Given the description of an element on the screen output the (x, y) to click on. 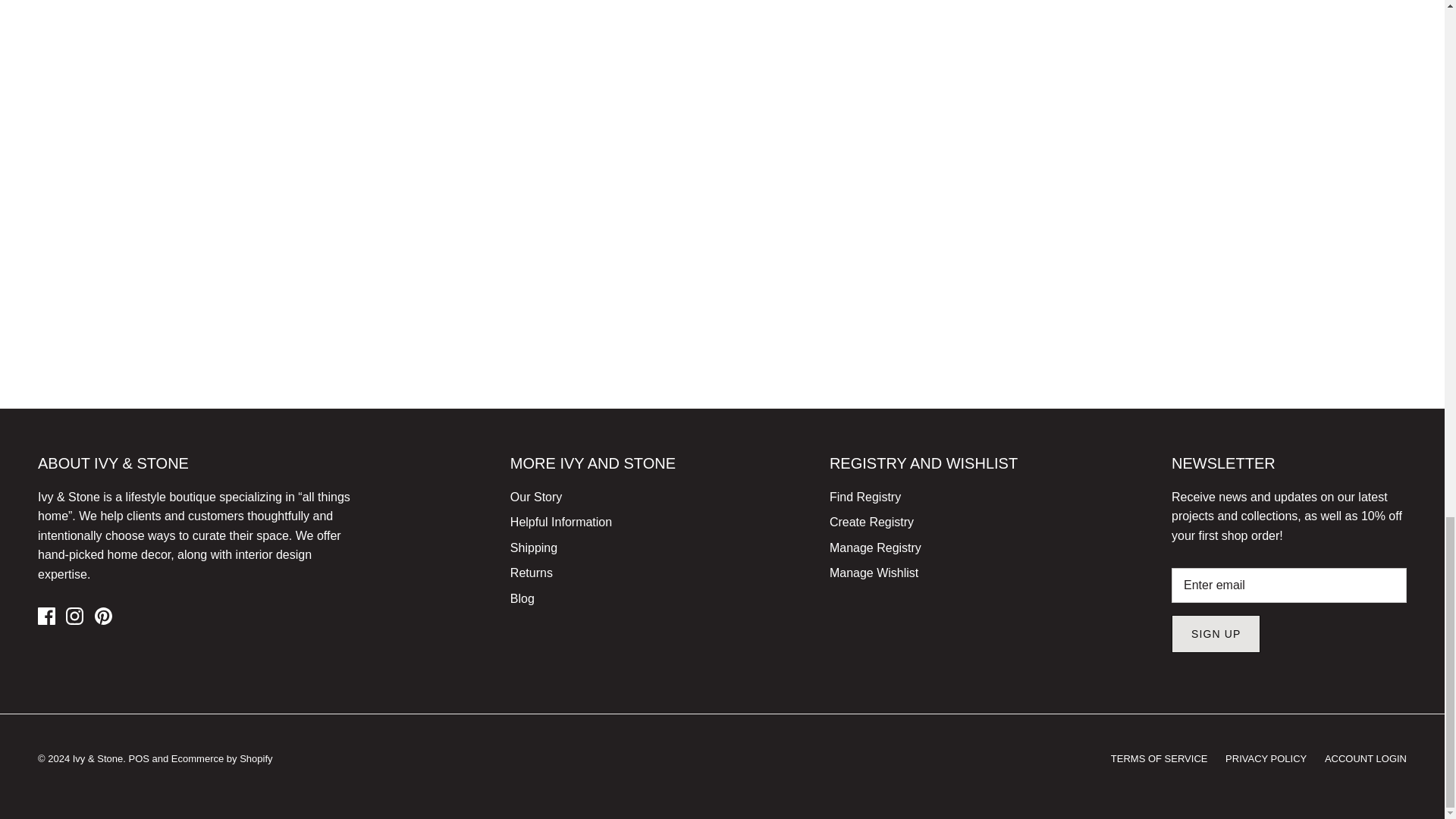
Pinterest (103, 615)
Facebook (46, 615)
Instagram (73, 615)
